Given the description of an element on the screen output the (x, y) to click on. 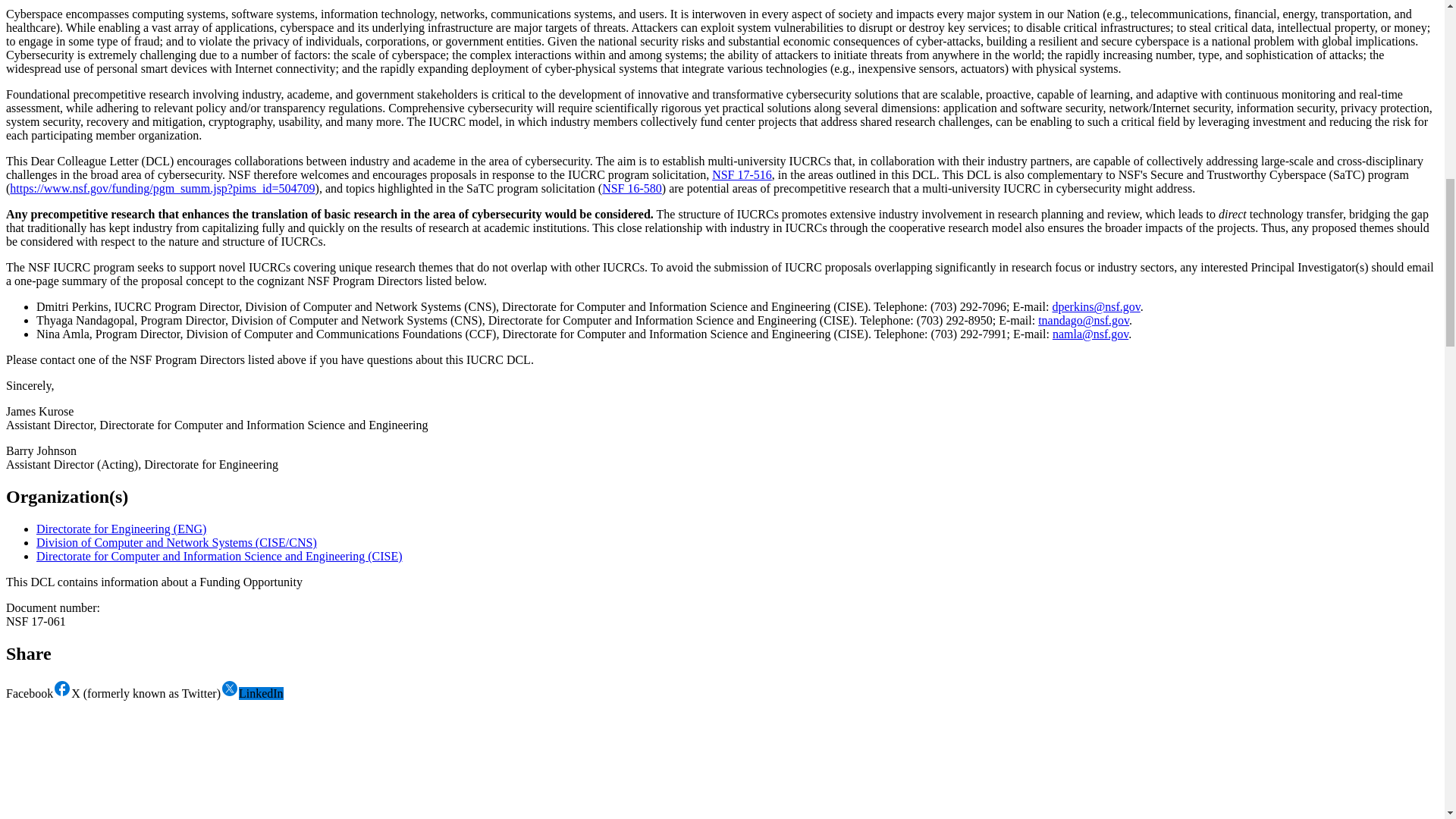
NSF 16-580 (632, 187)
NSF 17-516 (741, 174)
Facebook (38, 693)
